Given the description of an element on the screen output the (x, y) to click on. 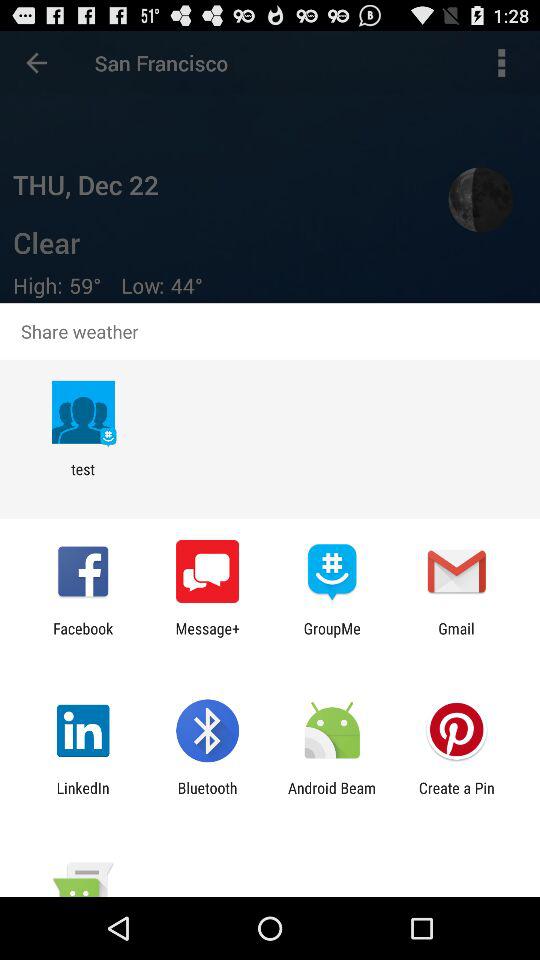
press the app next to the create a pin icon (332, 796)
